Given the description of an element on the screen output the (x, y) to click on. 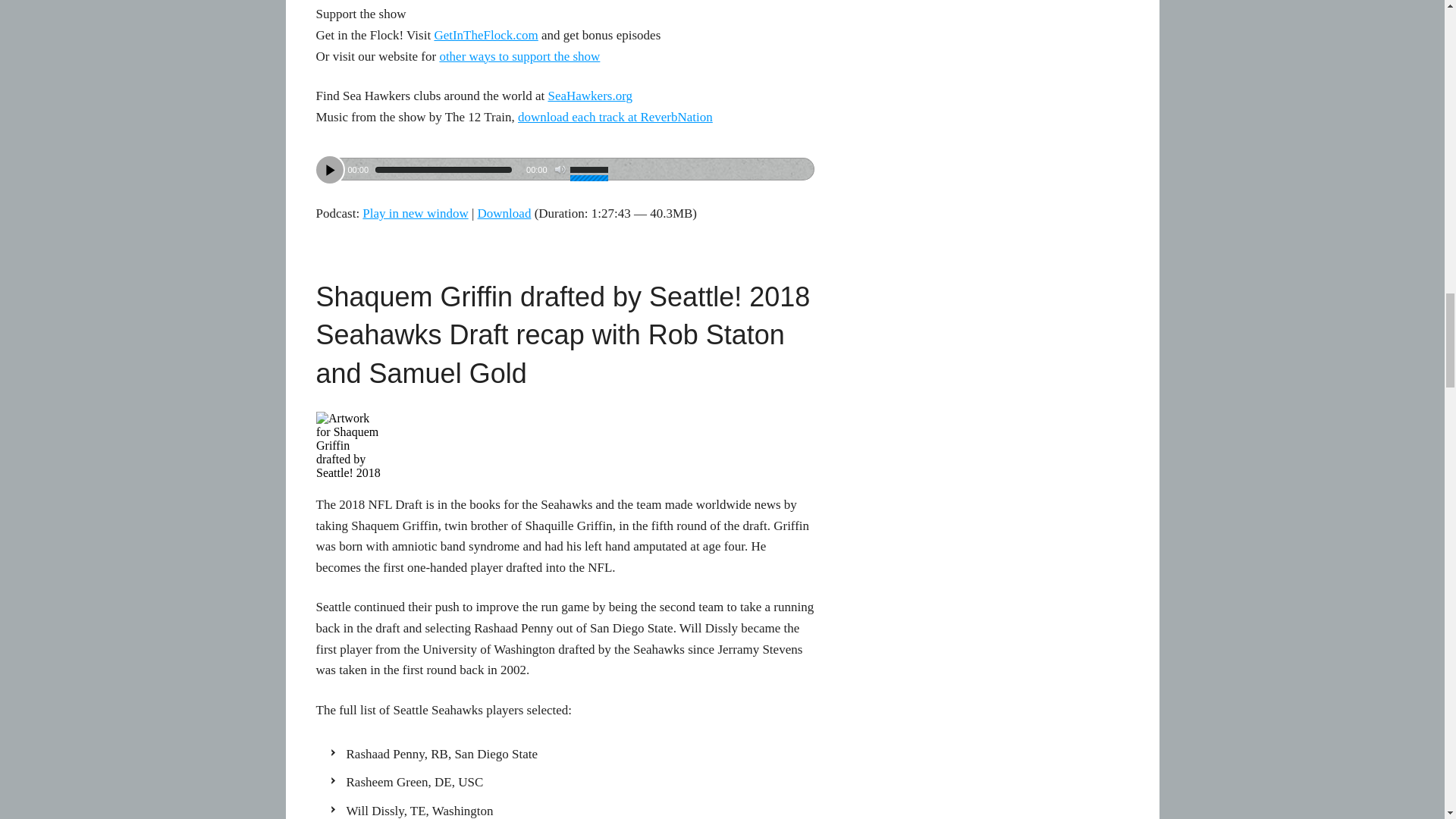
Mute (560, 169)
Download (504, 213)
Play (328, 169)
Play in new window (414, 213)
